Given the description of an element on the screen output the (x, y) to click on. 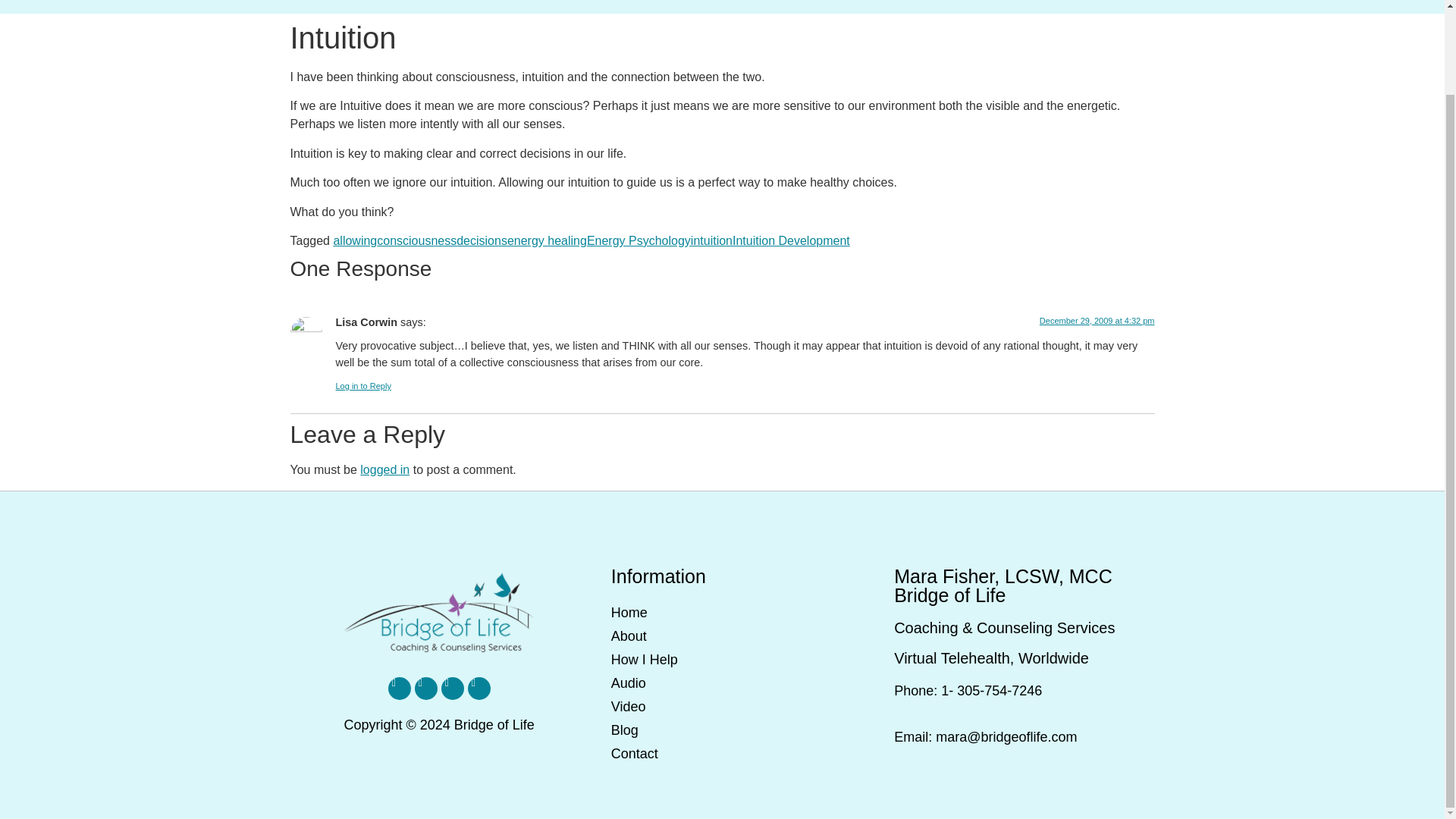
logged in (384, 469)
consciousness (417, 240)
Audio (721, 683)
intuition (711, 240)
allowing (355, 240)
Intuition Development (791, 240)
Home (721, 612)
energy healing (546, 240)
Log in to Reply (362, 385)
Contact (721, 753)
Energy Psychology (638, 240)
Video (721, 707)
Blog (721, 730)
decisions (481, 240)
How I Help (721, 659)
